Given the description of an element on the screen output the (x, y) to click on. 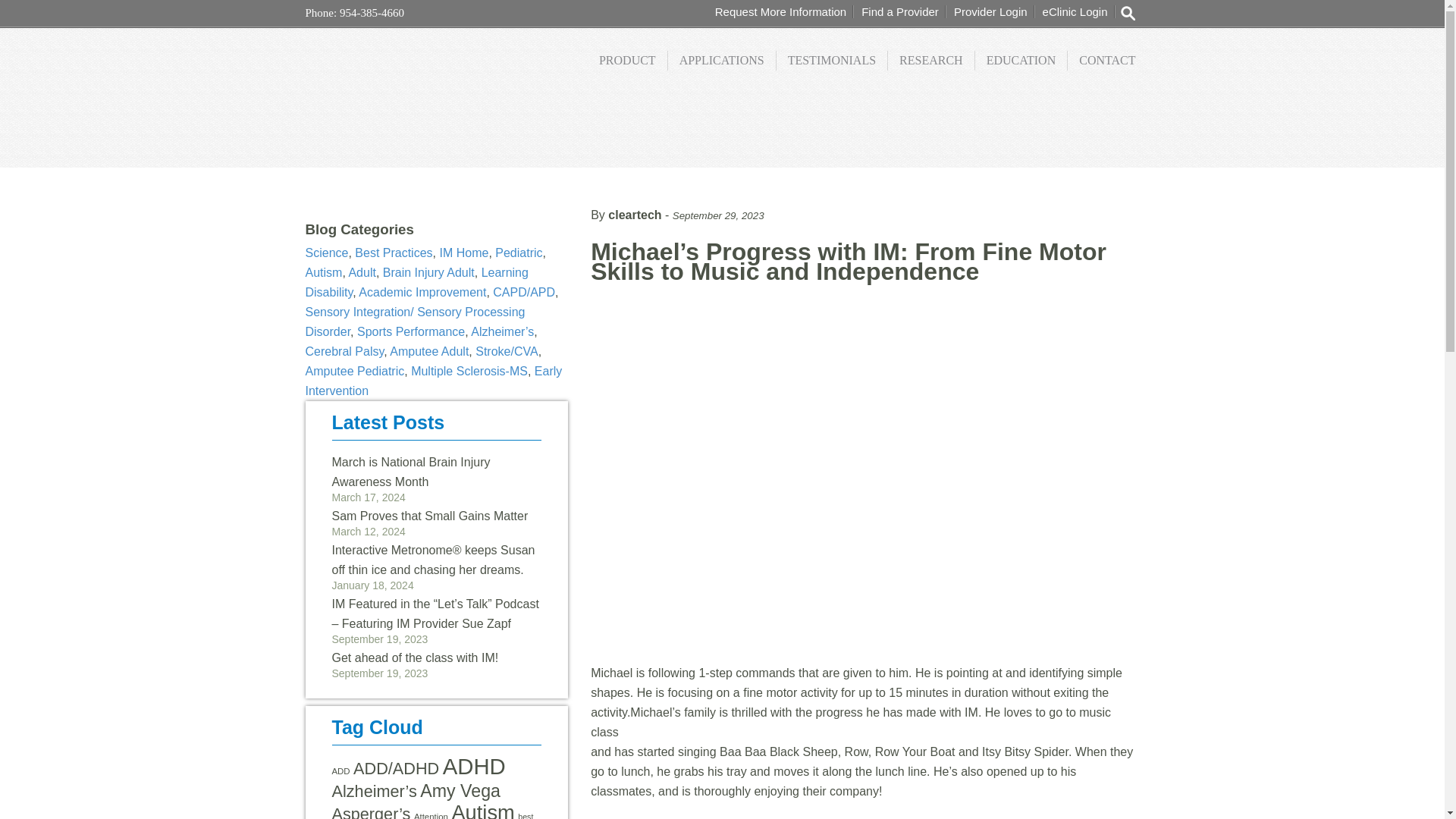
RESEARCH (931, 60)
View all posts in Autism (323, 272)
View all posts in Amputee Adult (429, 350)
View all posts in Science (325, 252)
PRODUCT (628, 60)
Provider Login (990, 11)
Find a Provider (899, 11)
954-385-4660 (370, 12)
View all posts in Pediatric (518, 252)
View all posts in Adult (361, 272)
